Given the description of an element on the screen output the (x, y) to click on. 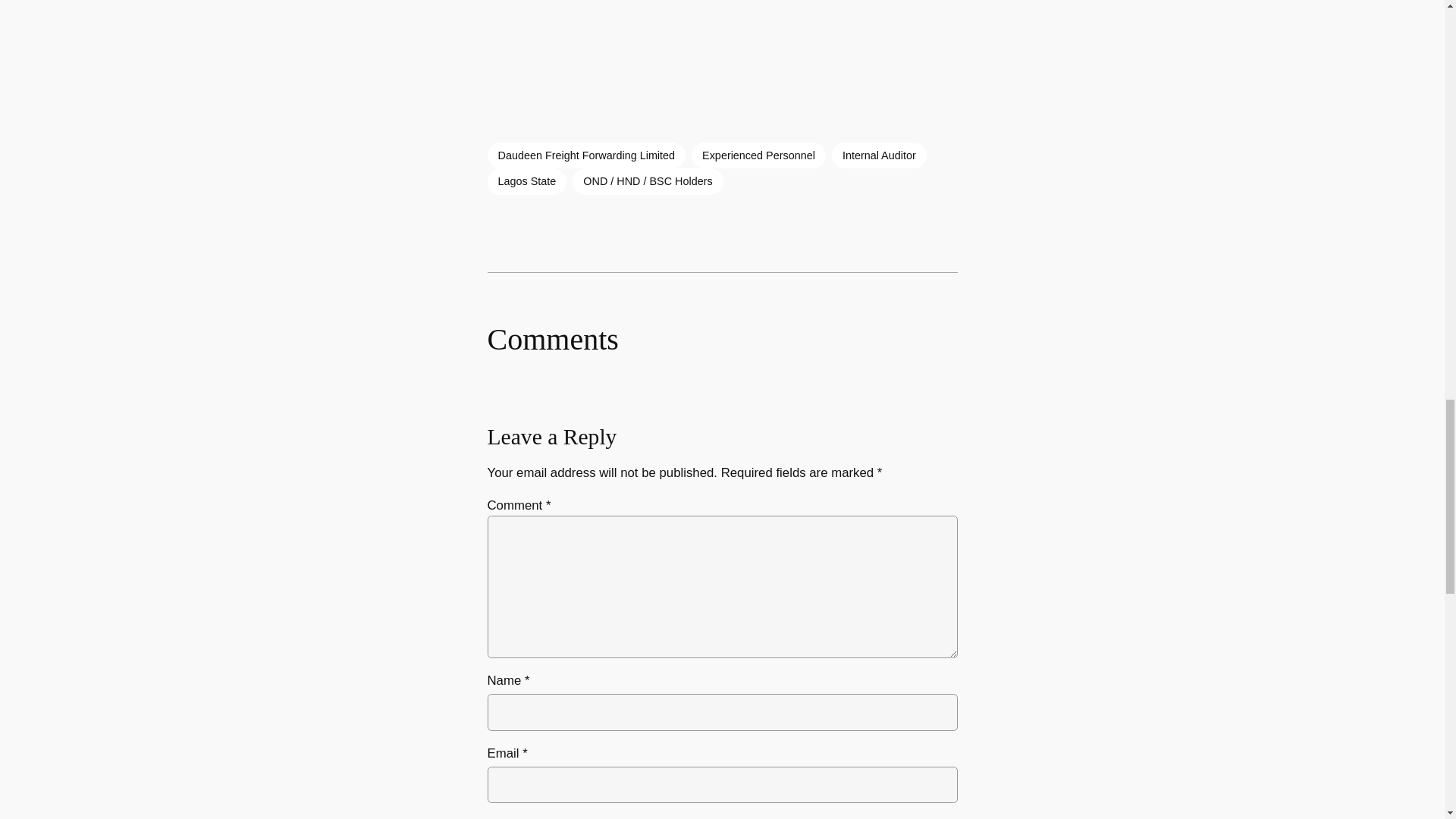
Internal Auditor (878, 155)
Daudeen Freight Forwarding Limited (585, 155)
Lagos State (526, 181)
Experienced Personnel (758, 155)
